Given the description of an element on the screen output the (x, y) to click on. 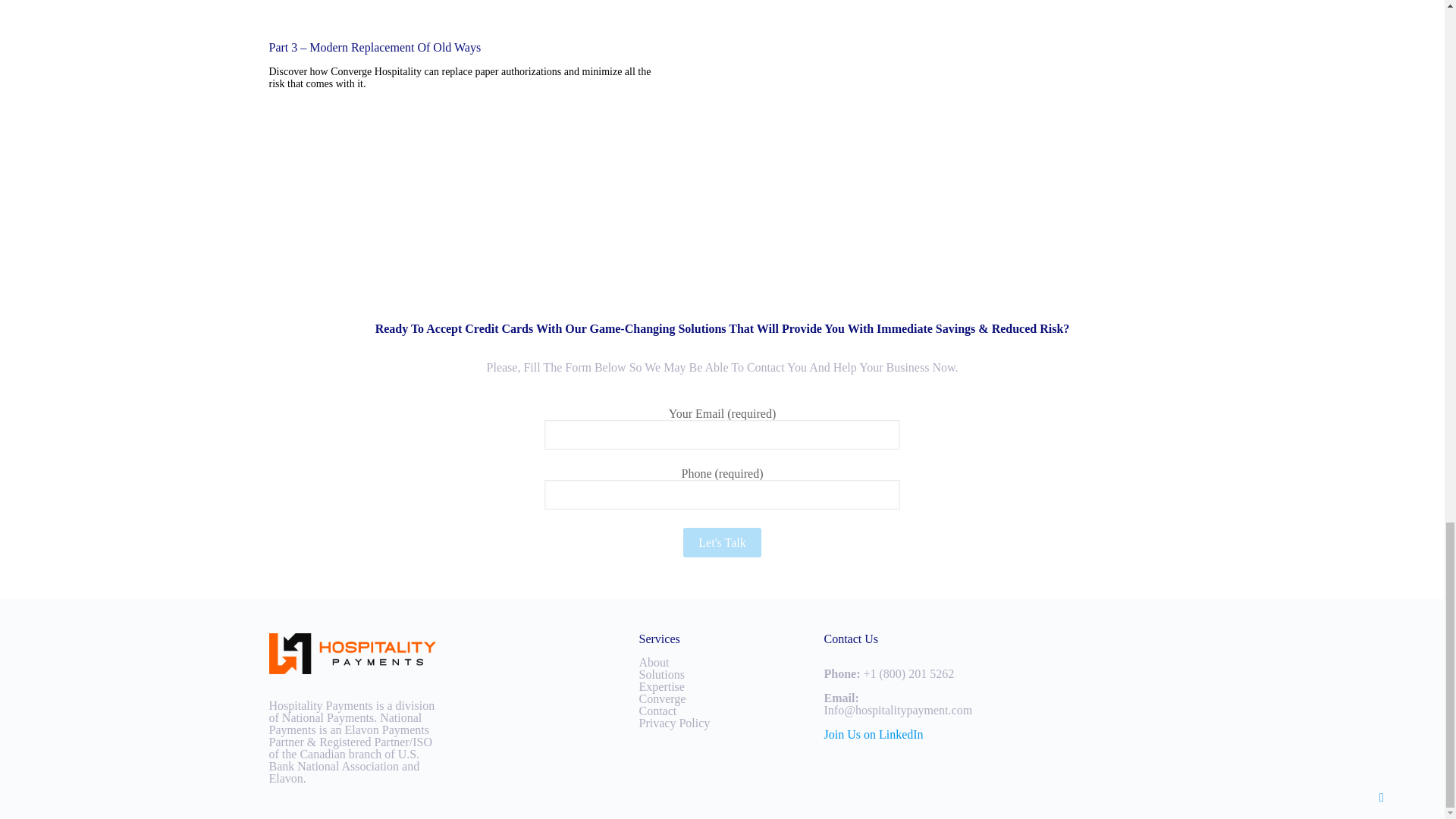
Join Us on LinkedIn (873, 734)
About (653, 662)
Expertise (661, 686)
Converge (662, 698)
Solutions (661, 674)
Let's Talk (721, 542)
Let's Talk (721, 542)
Privacy Policy (674, 722)
Contact (658, 710)
